Given the description of an element on the screen output the (x, y) to click on. 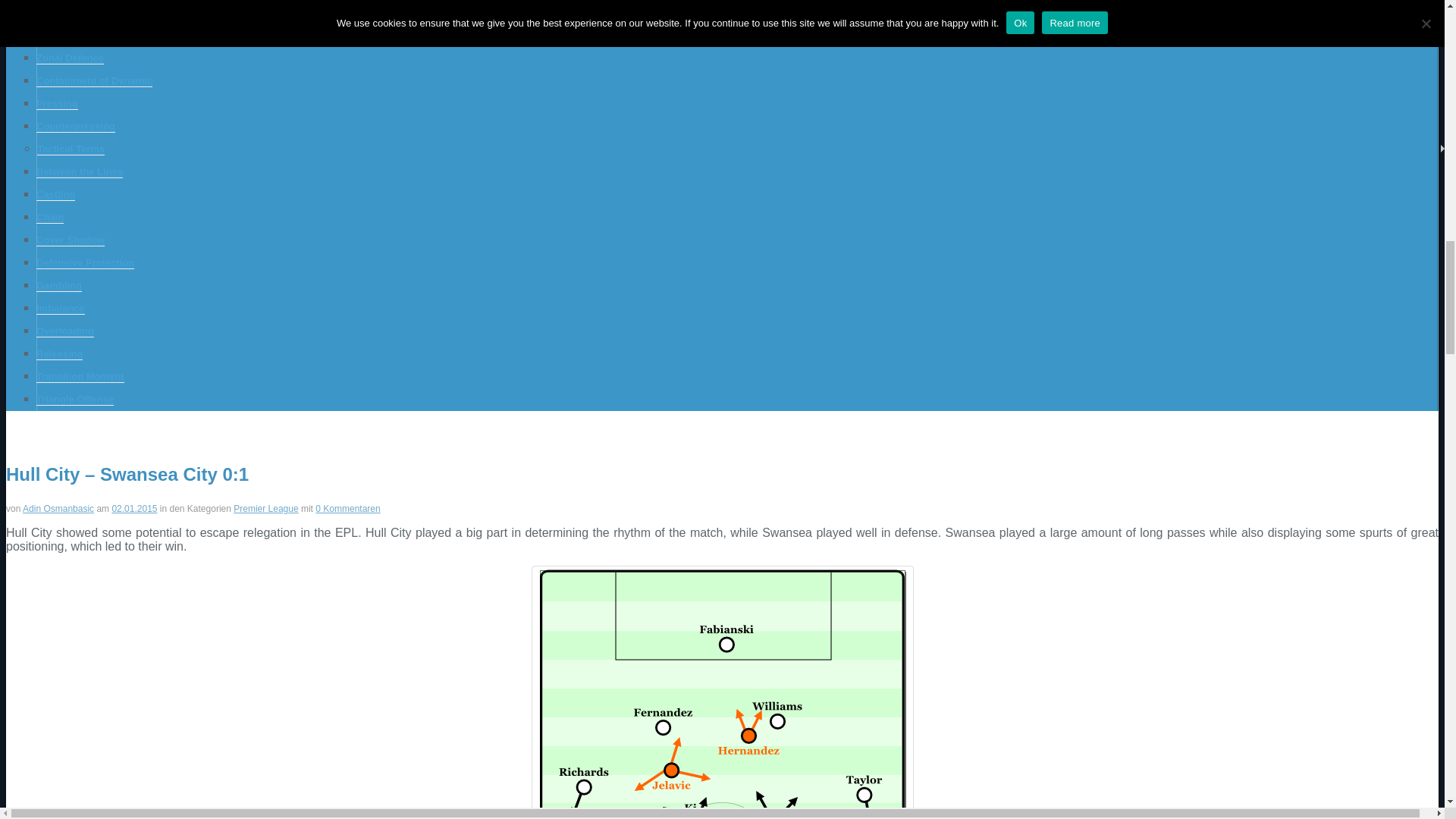
Posts by Adin Osmanbasic (58, 508)
zu den Kommentaren (134, 508)
zu den Kommentaren (347, 508)
